Given the description of an element on the screen output the (x, y) to click on. 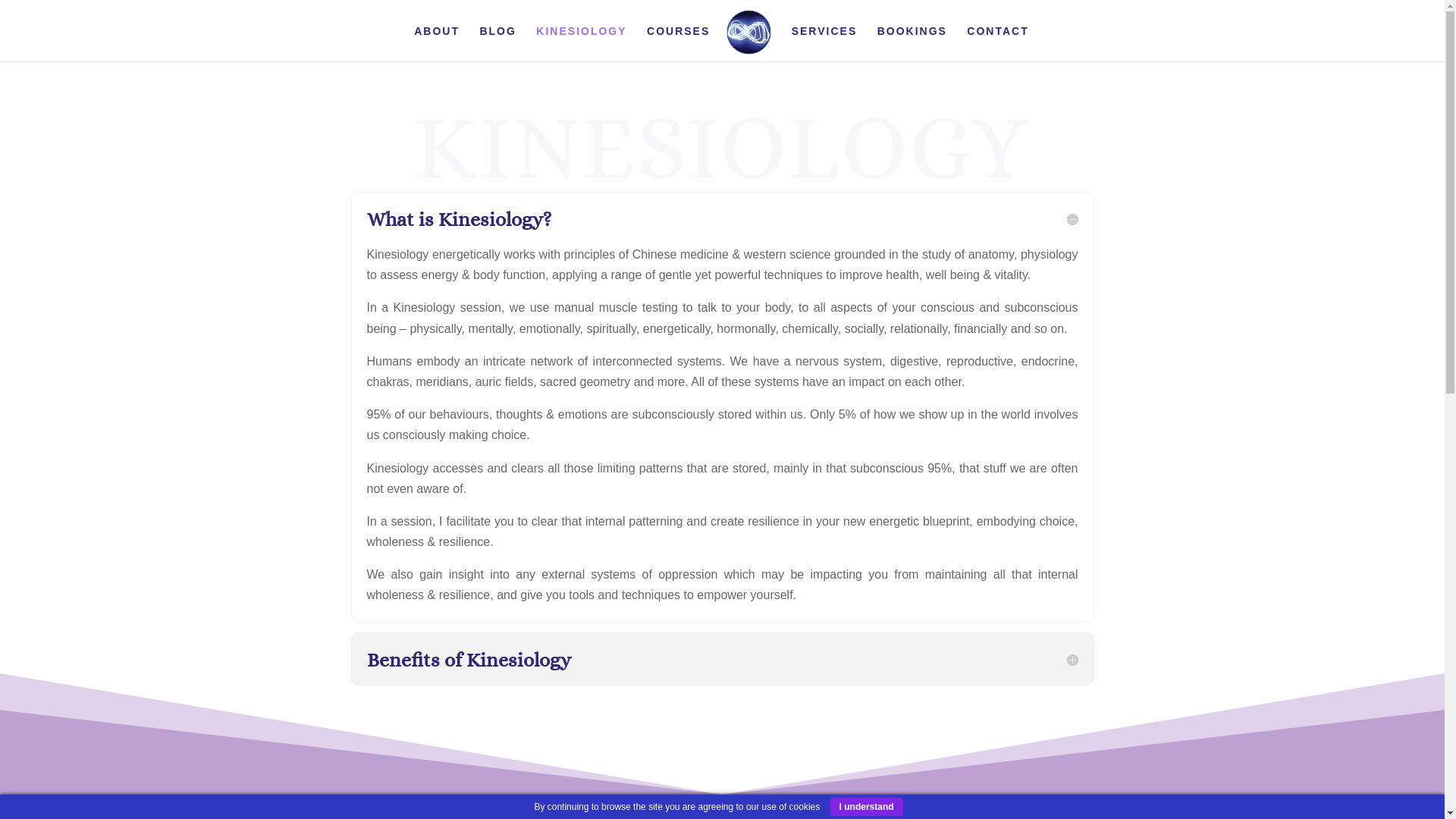
ABOUT Element type: text (436, 43)
I understand Element type: text (866, 806)
SERVICES Element type: text (824, 43)
COURSES Element type: text (677, 43)
KINESIOLOGY Element type: text (581, 43)
BOOKINGS Element type: text (912, 43)
BLOG Element type: text (497, 43)
CONTACT Element type: text (997, 43)
